Given the description of an element on the screen output the (x, y) to click on. 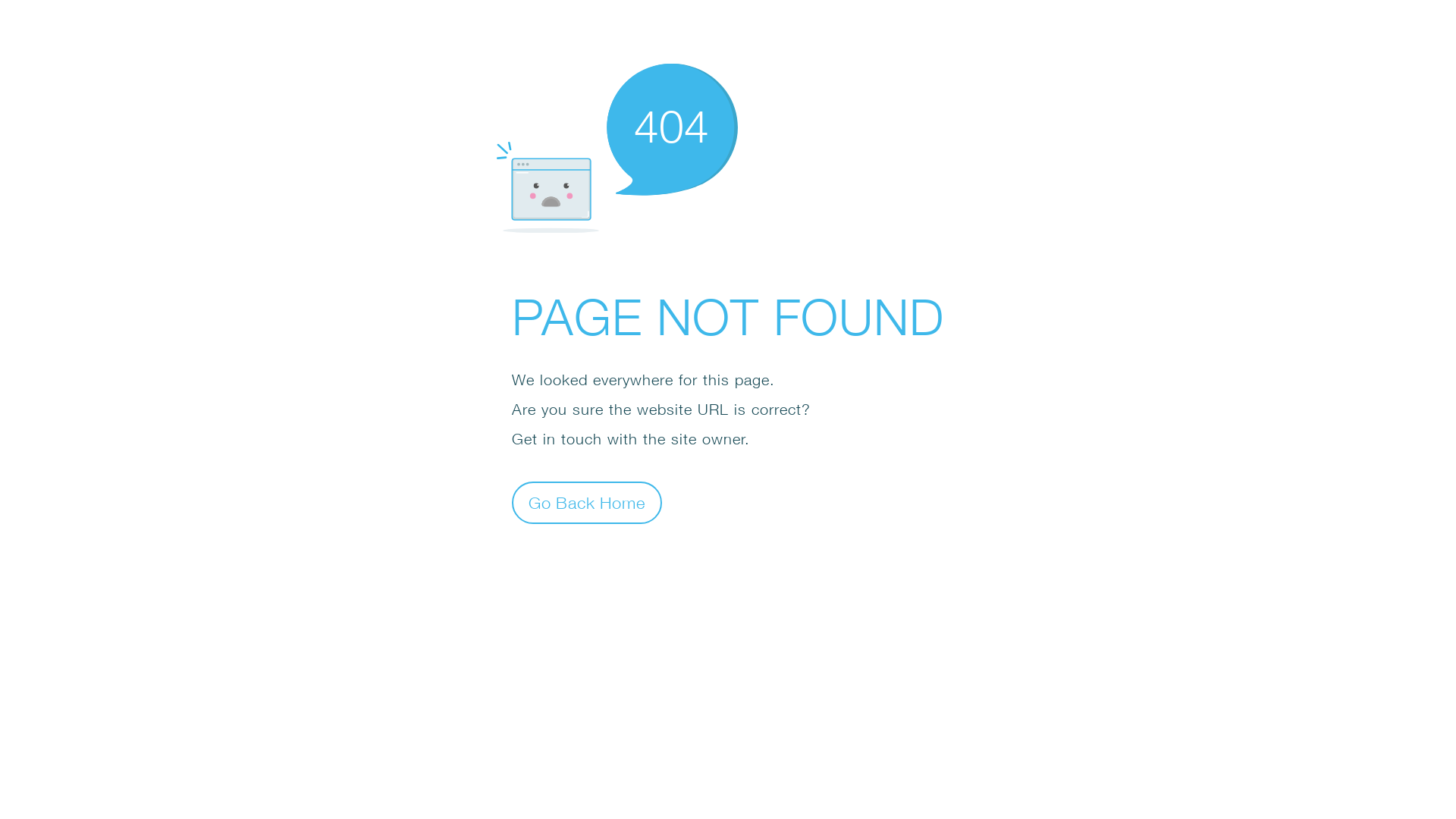
Go Back Home Element type: text (586, 502)
